Given the description of an element on the screen output the (x, y) to click on. 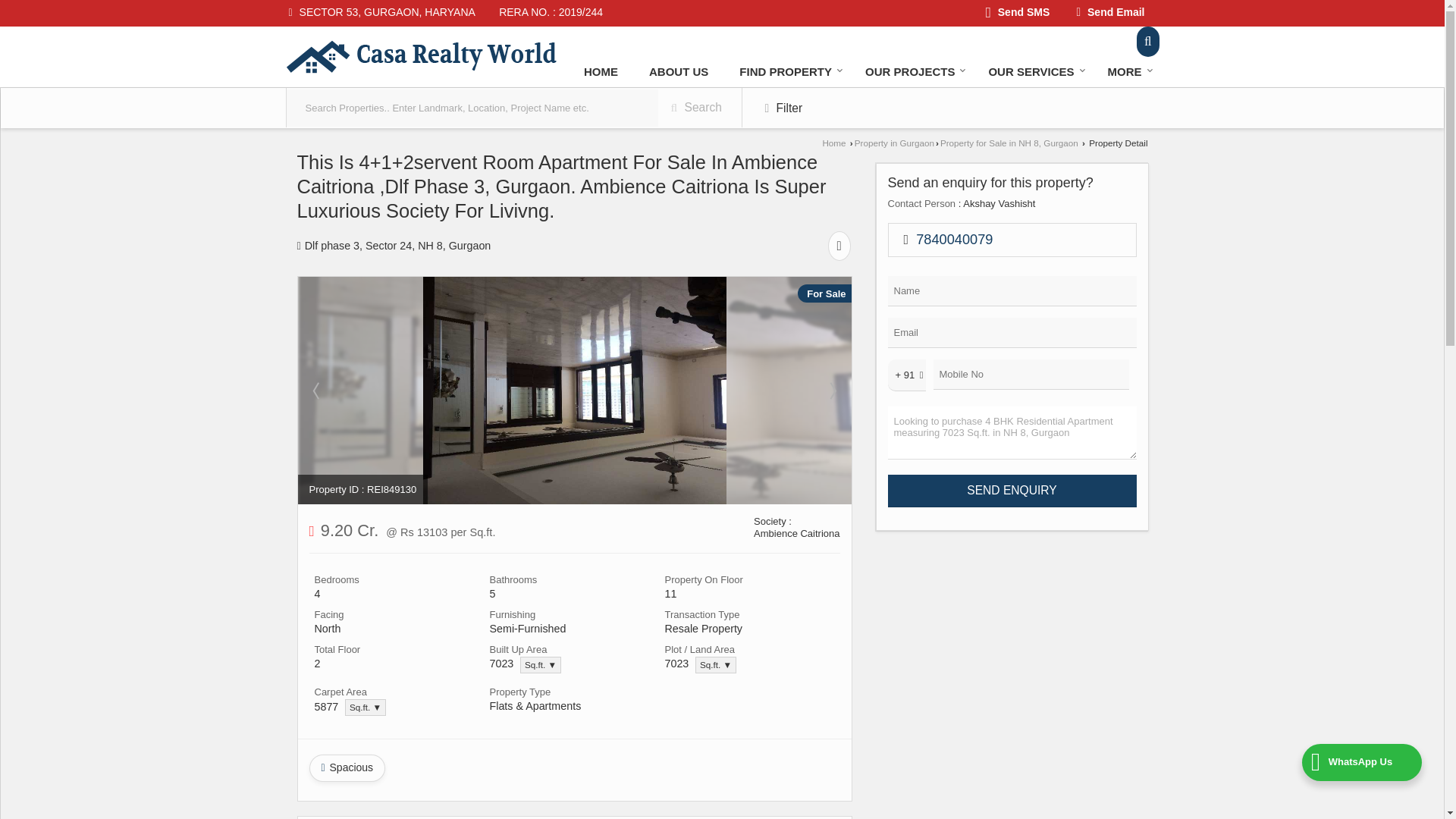
FIND PROPERTY (785, 71)
Search (1147, 41)
OUR PROJECTS (911, 71)
ABOUT US (678, 71)
Casa Realty World (420, 56)
HOME (601, 71)
Home (601, 71)
About Us (678, 71)
Send Enquiry (1010, 490)
Send Email (1110, 13)
Send SMS (1017, 13)
Find Property (785, 71)
